Given the description of an element on the screen output the (x, y) to click on. 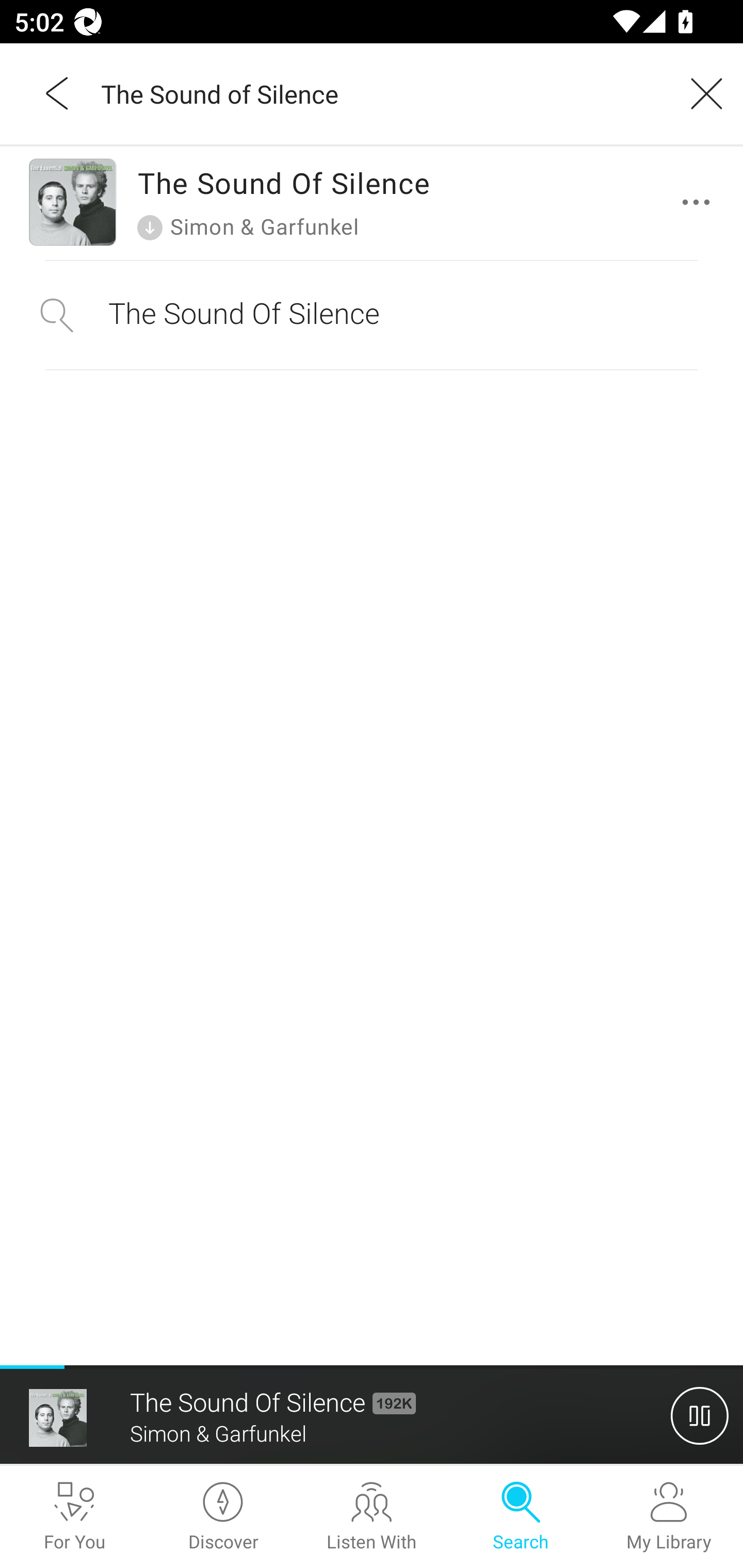
The Sound of Silence (378, 92)
Clear query (699, 92)
Back,outside of the list (57, 93)
更多操作選項 (699, 202)
The Sound Of Silence (371, 315)
暫停播放 (699, 1415)
For You (74, 1517)
Discover (222, 1517)
Listen With (371, 1517)
Search (519, 1517)
My Library (668, 1517)
